Given the description of an element on the screen output the (x, y) to click on. 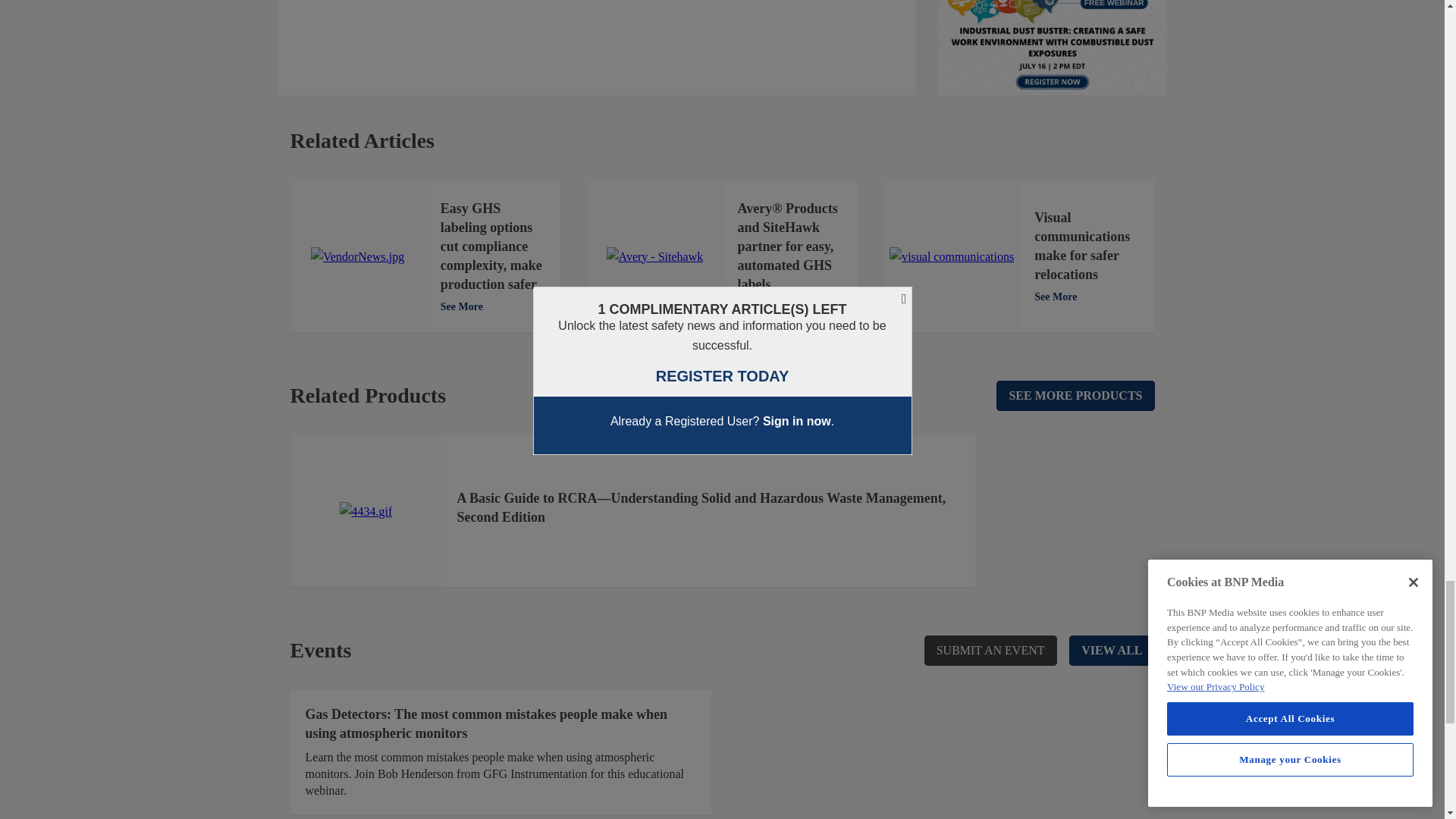
4434.gif (366, 511)
VendorNews.jpg (357, 256)
Avery-Sitehawk.jpg (655, 256)
visual communications (951, 256)
